Given the description of an element on the screen output the (x, y) to click on. 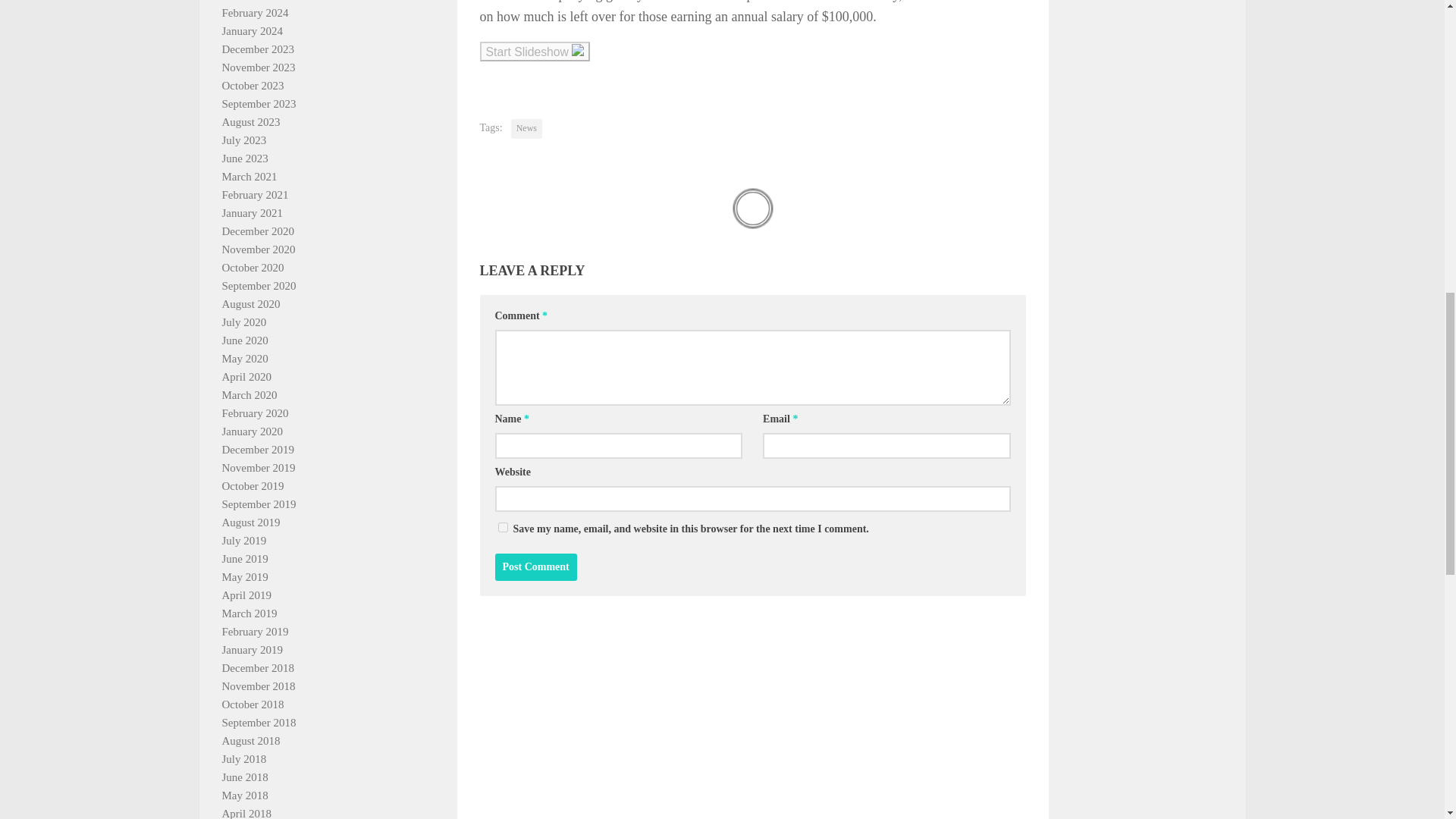
September 2023 (258, 103)
July 2023 (243, 140)
December 2023 (257, 49)
Start Slideshow (534, 51)
February 2024 (254, 12)
August 2023 (250, 121)
November 2023 (258, 67)
October 2023 (252, 85)
Post Comment (535, 566)
Post Comment (535, 566)
March 2024 (248, 0)
January 2024 (251, 30)
March 2021 (248, 176)
June 2023 (244, 158)
News (526, 128)
